Given the description of an element on the screen output the (x, y) to click on. 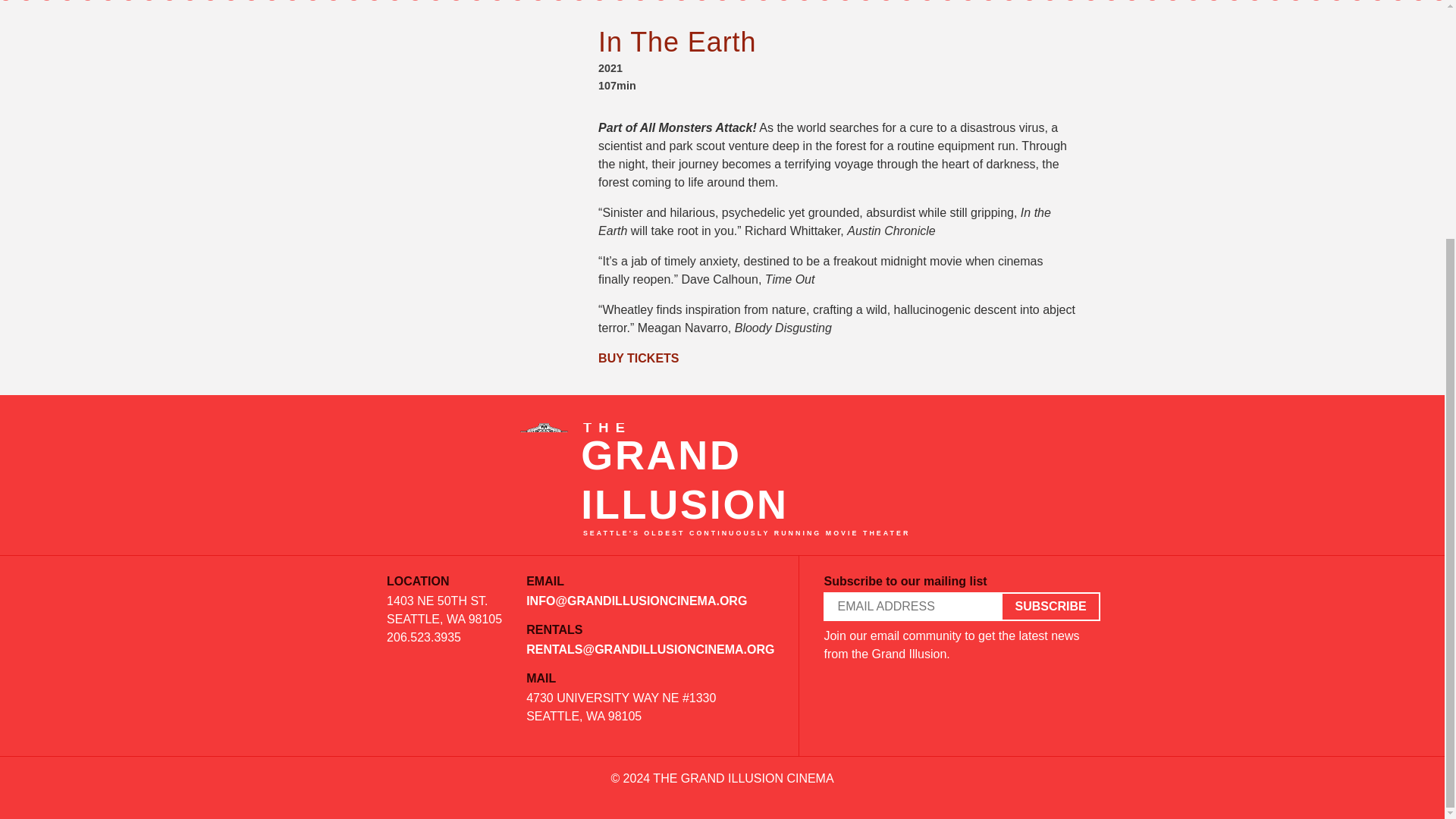
In The Earth (676, 41)
Subscribe (1050, 606)
Subscribe (1050, 606)
BUY TICKETS (638, 358)
